Given the description of an element on the screen output the (x, y) to click on. 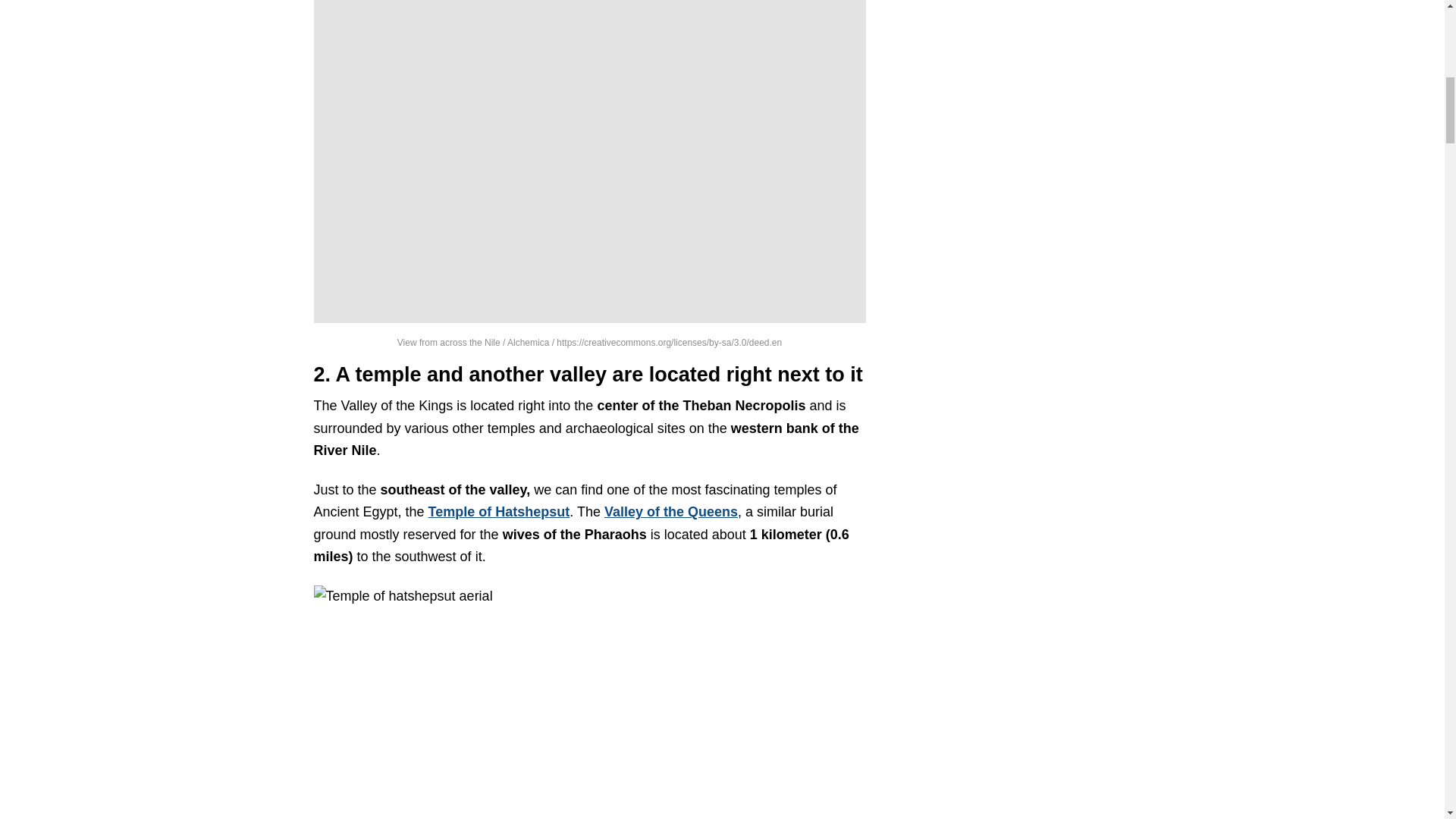
12 Facts About The Valley Of The Kings 2 (590, 702)
Valley of the Queens (671, 511)
Temple of Hatshepsut (499, 511)
